Given the description of an element on the screen output the (x, y) to click on. 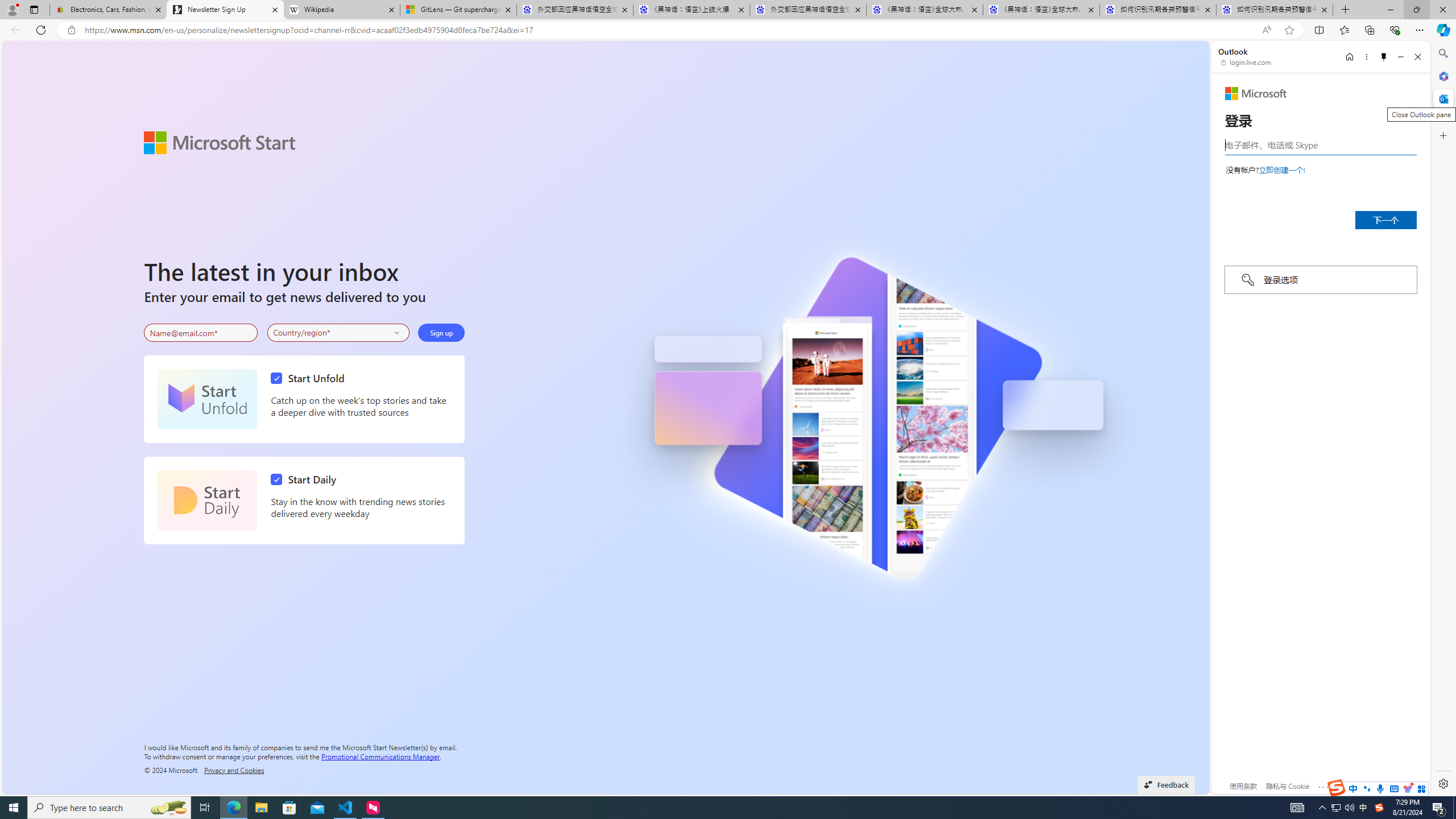
Enter your email (200, 332)
Microsoft (1255, 93)
Start Daily (207, 500)
Start Unfold (207, 399)
